Given the description of an element on the screen output the (x, y) to click on. 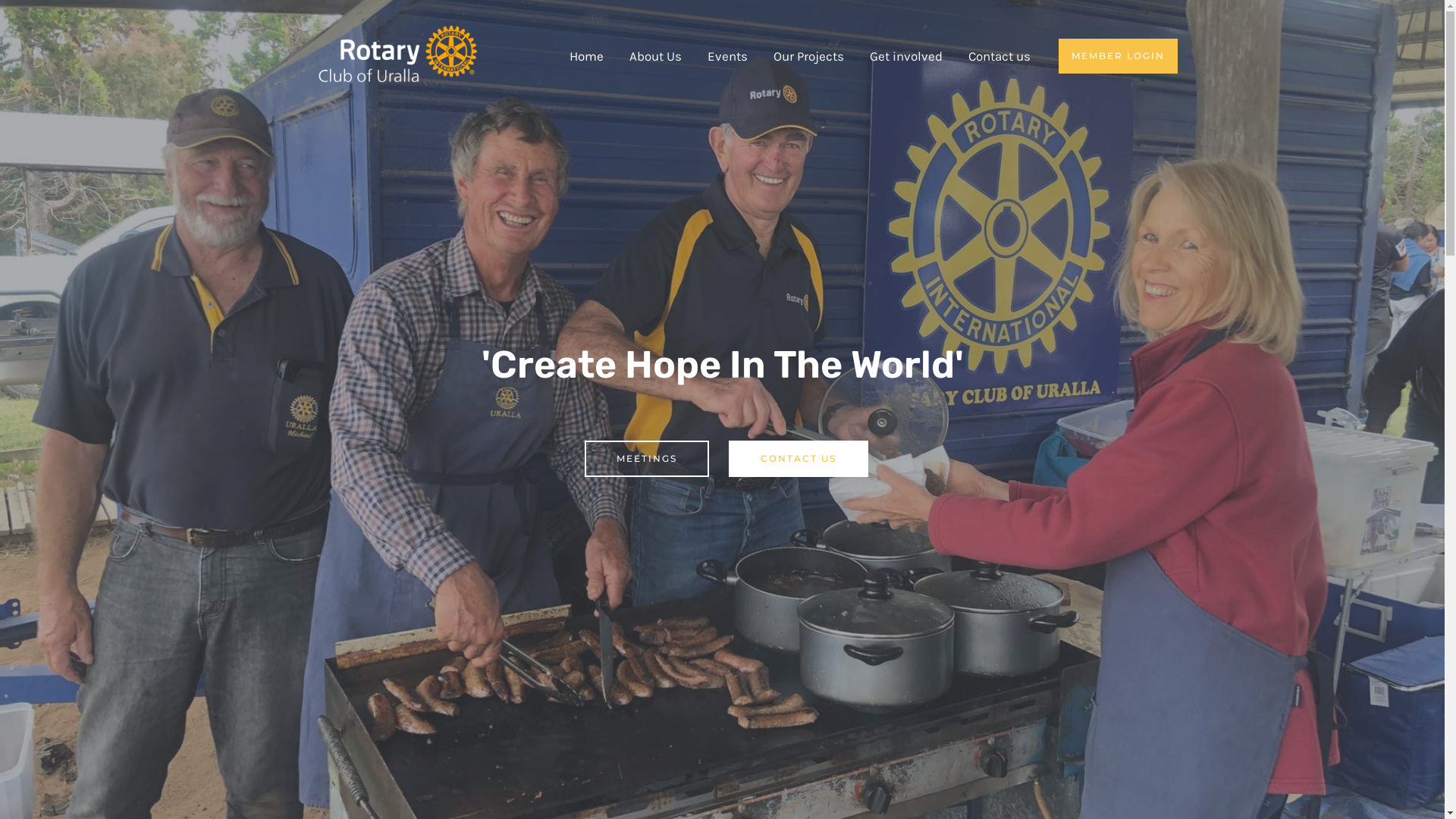
About Us Element type: text (654, 55)
MEMBER LOGIN Element type: text (1117, 55)
Events Element type: text (727, 55)
CONTACT US Element type: text (797, 458)
Get involved Element type: text (905, 55)
Home Element type: text (586, 55)
Our Projects Element type: text (807, 55)
MEETINGS Element type: text (645, 458)
Contact us Element type: text (999, 55)
